Given the description of an element on the screen output the (x, y) to click on. 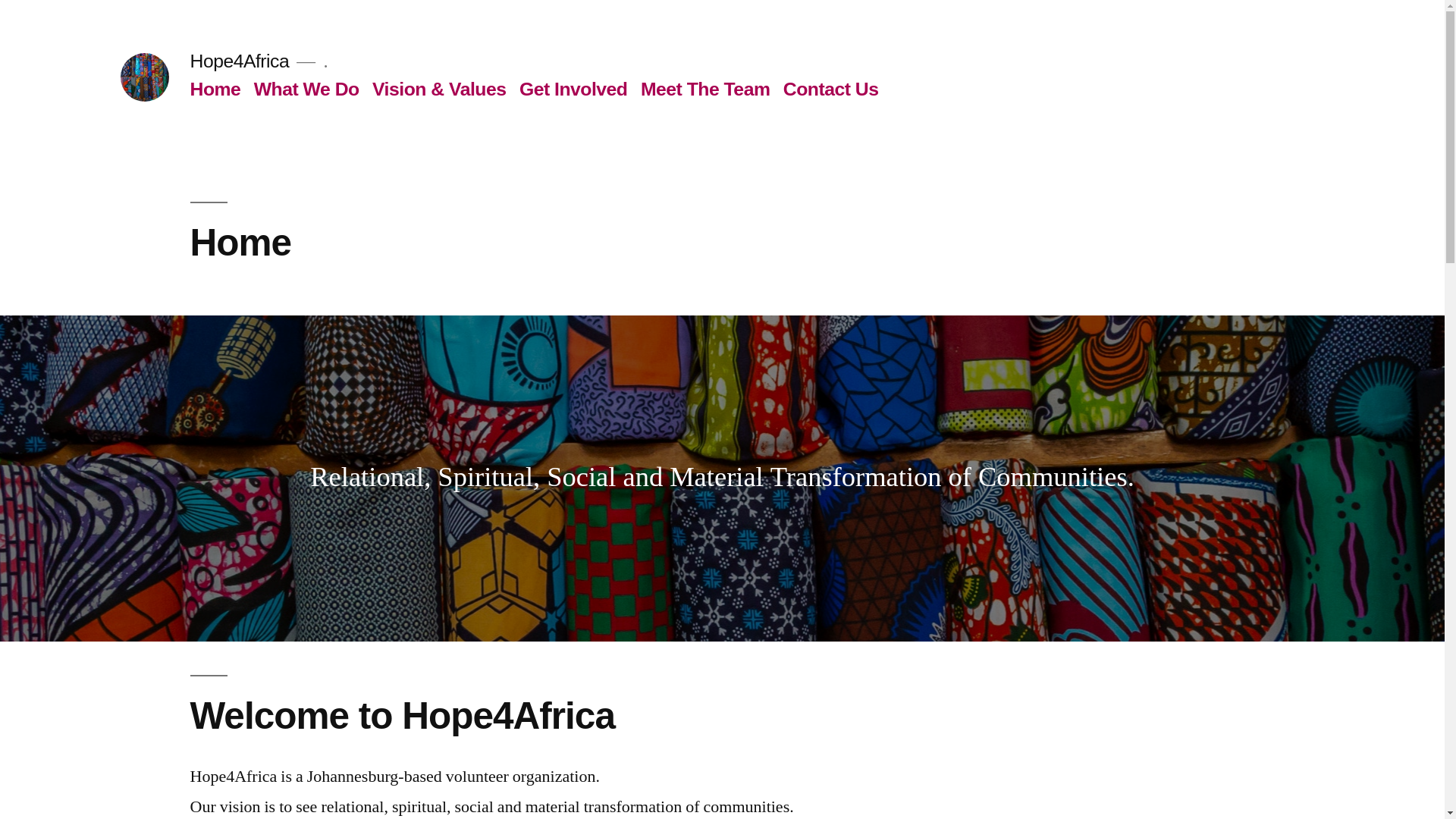
Home (214, 88)
Meet The Team (705, 88)
What We Do (306, 88)
Hope4Africa (238, 60)
Get Involved (573, 88)
Contact Us (831, 88)
